Given the description of an element on the screen output the (x, y) to click on. 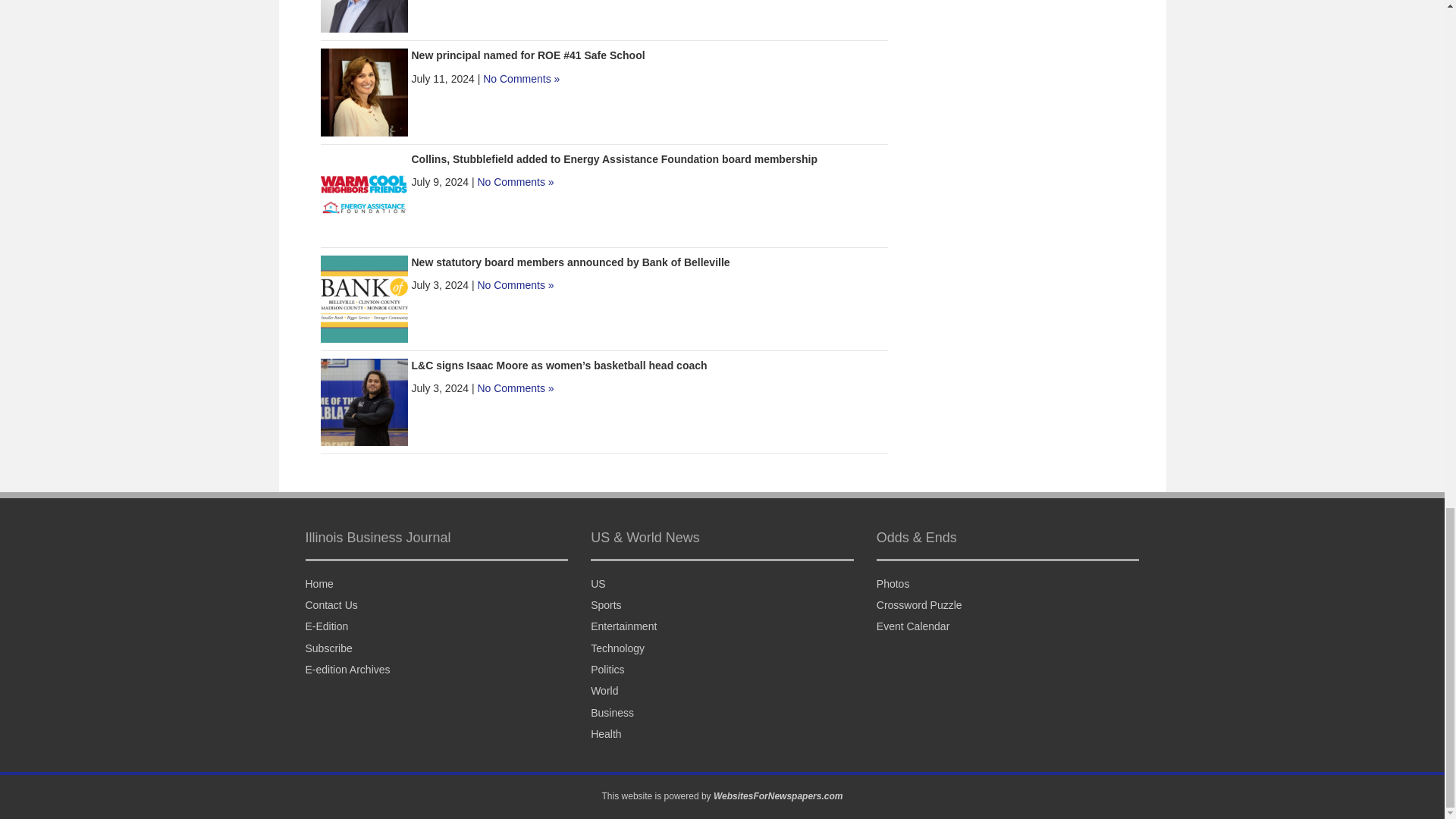
New statutory board members announced by Bank of Belleville (569, 262)
New statutory board members announced by Bank of Belleville (363, 297)
